Given the description of an element on the screen output the (x, y) to click on. 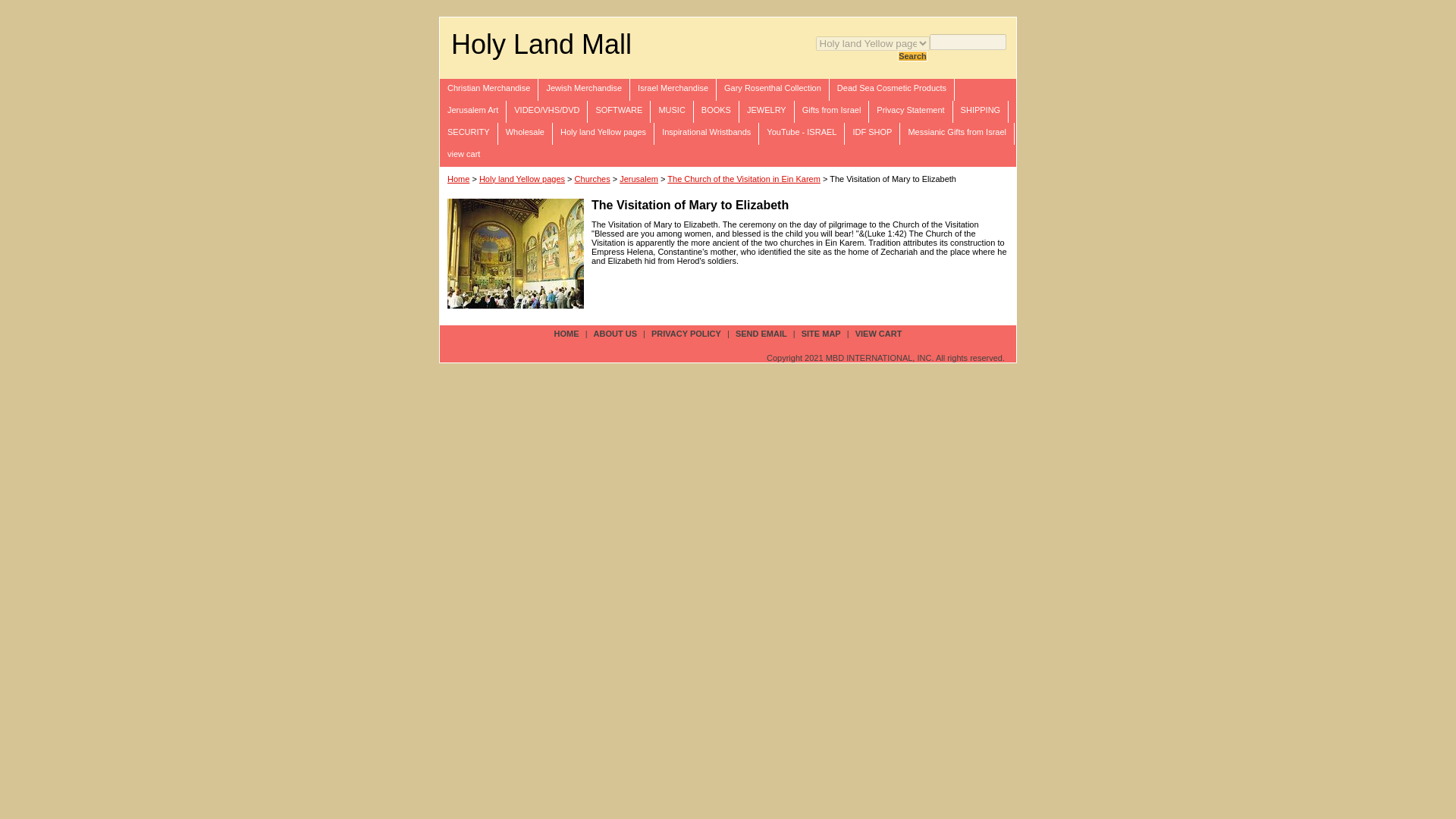
SOFTWARE (619, 111)
Holy land Yellow pages (603, 133)
PRIVACY POLICY (686, 333)
SHIPPING (981, 111)
BOOKS (716, 111)
Home (457, 178)
Gary Rosenthal Collection (772, 89)
JEWELRY (766, 111)
Gary Rosenthal Collection (772, 89)
Gifts from Israel (831, 111)
Messianic Gifts from Israel (956, 133)
BOOKS (716, 111)
Wholesale (525, 133)
HOME (566, 333)
Holy Land Mall (541, 43)
